Given the description of an element on the screen output the (x, y) to click on. 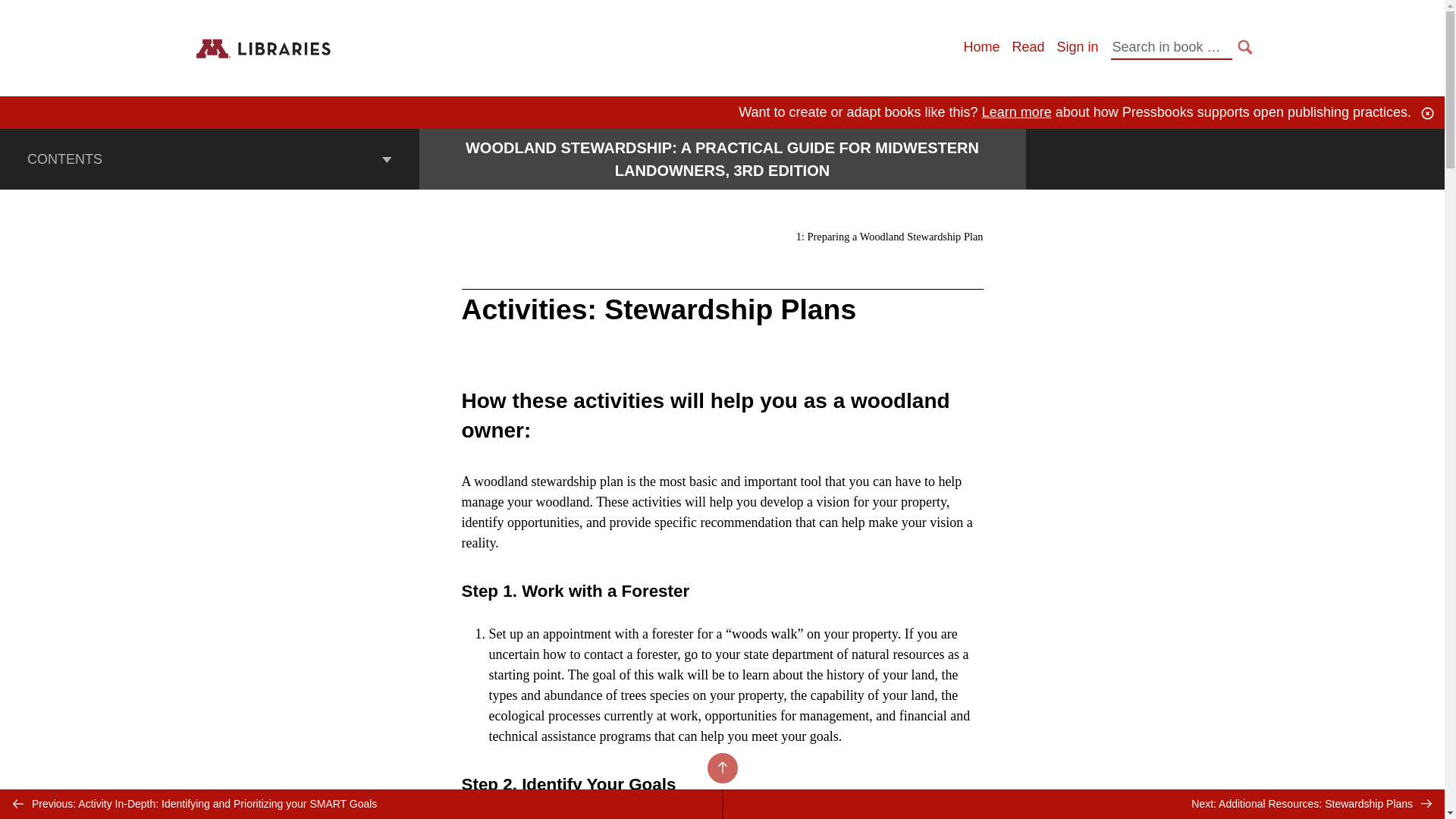
BACK TO TOP (721, 767)
Home (980, 46)
Sign in (1077, 46)
Learn more (1016, 111)
Read (1027, 46)
CONTENTS (209, 158)
